Given the description of an element on the screen output the (x, y) to click on. 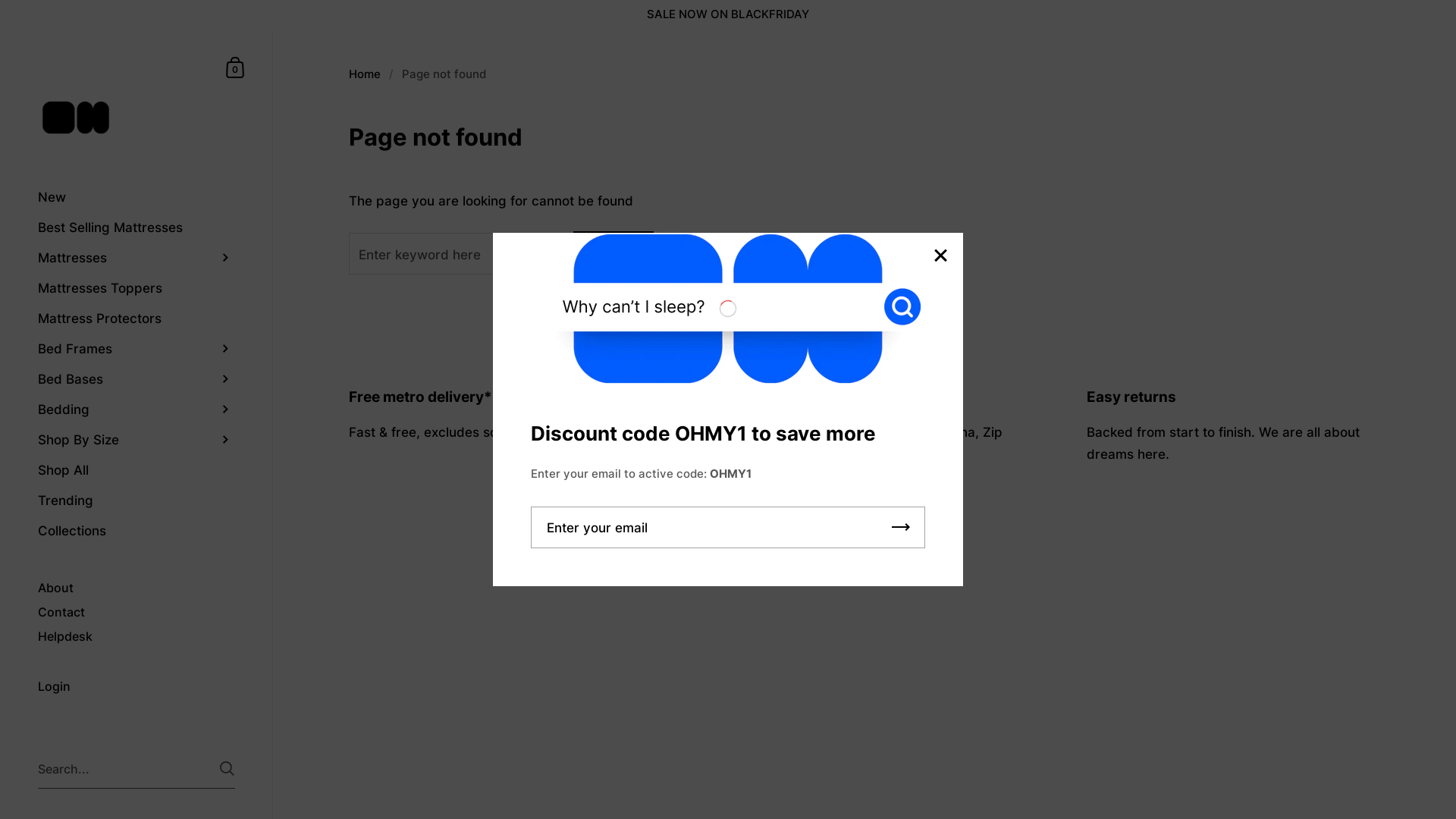
Best Selling Mattresses Element type: text (136, 227)
Shop All Element type: text (136, 470)
Mattresses Toppers Element type: text (136, 288)
About Element type: text (136, 588)
Home Element type: text (364, 74)
Bed Bases Element type: text (136, 379)
Trending Element type: text (136, 500)
Skip to content Element type: text (0, 30)
Mattresses Element type: text (136, 257)
Shopping Cart
0 Element type: text (235, 66)
Collections Element type: text (136, 530)
Login Element type: text (136, 687)
Contact Element type: text (136, 612)
Helpdesk Element type: text (136, 636)
Mattress Protectors Element type: text (136, 318)
Shop By Size Element type: text (136, 439)
New Element type: text (136, 197)
Bed Frames Element type: text (136, 348)
Search Element type: text (613, 252)
Bedding Element type: text (136, 409)
